Given the description of an element on the screen output the (x, y) to click on. 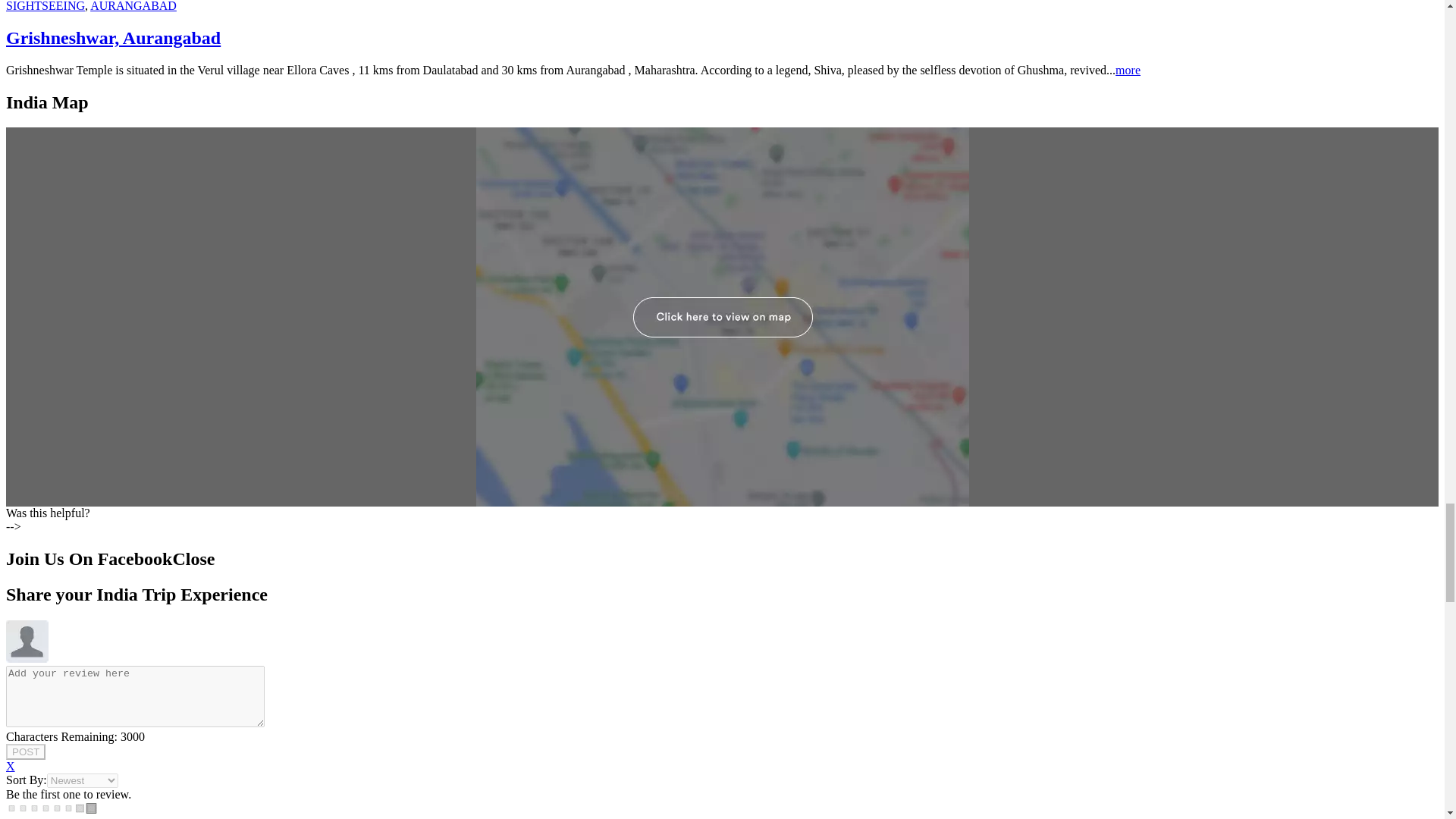
POST (25, 751)
